Given the description of an element on the screen output the (x, y) to click on. 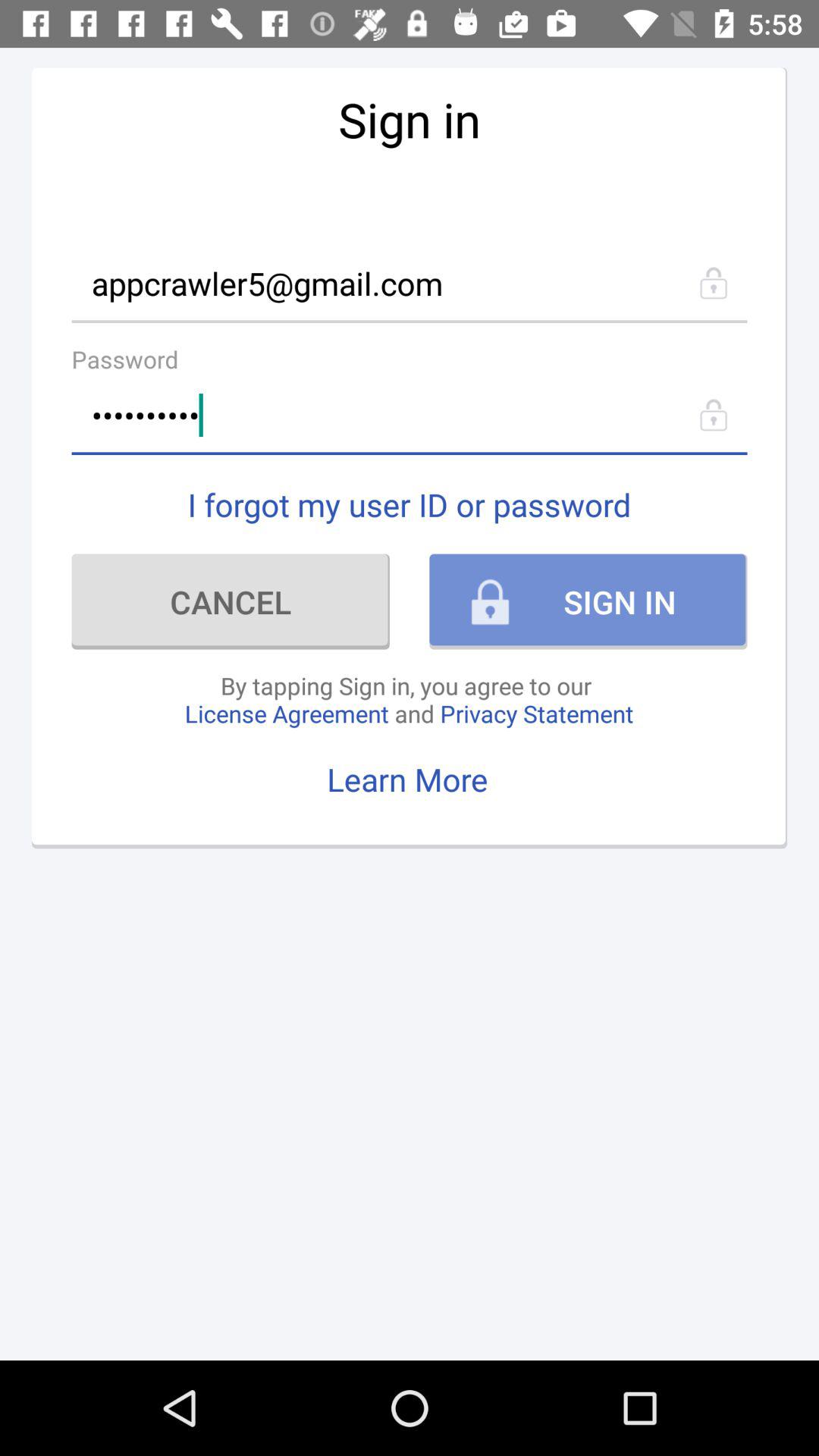
select appcrawler5@gmail.com (409, 283)
